Given the description of an element on the screen output the (x, y) to click on. 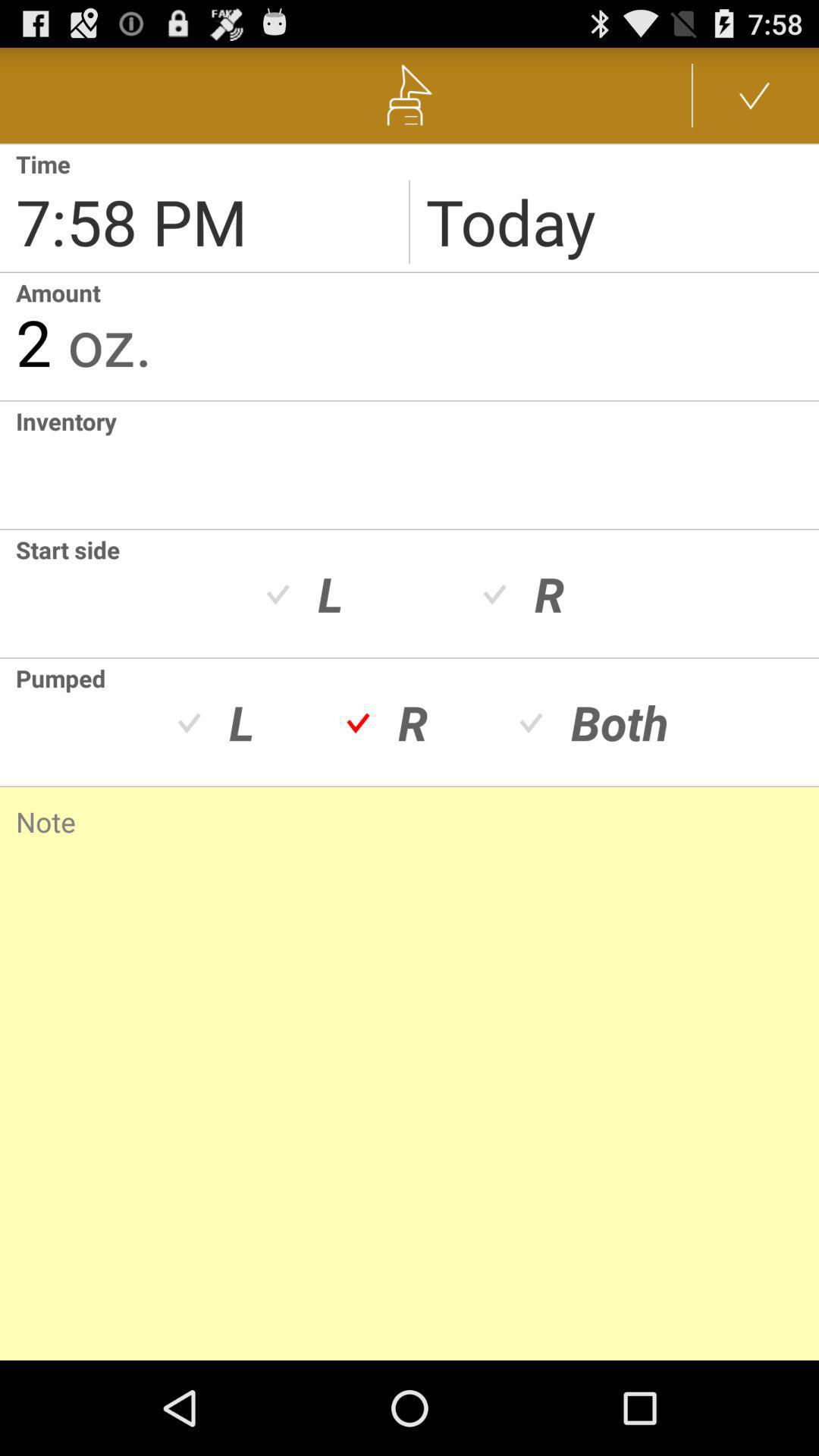
type inventory (7, 464)
